Given the description of an element on the screen output the (x, y) to click on. 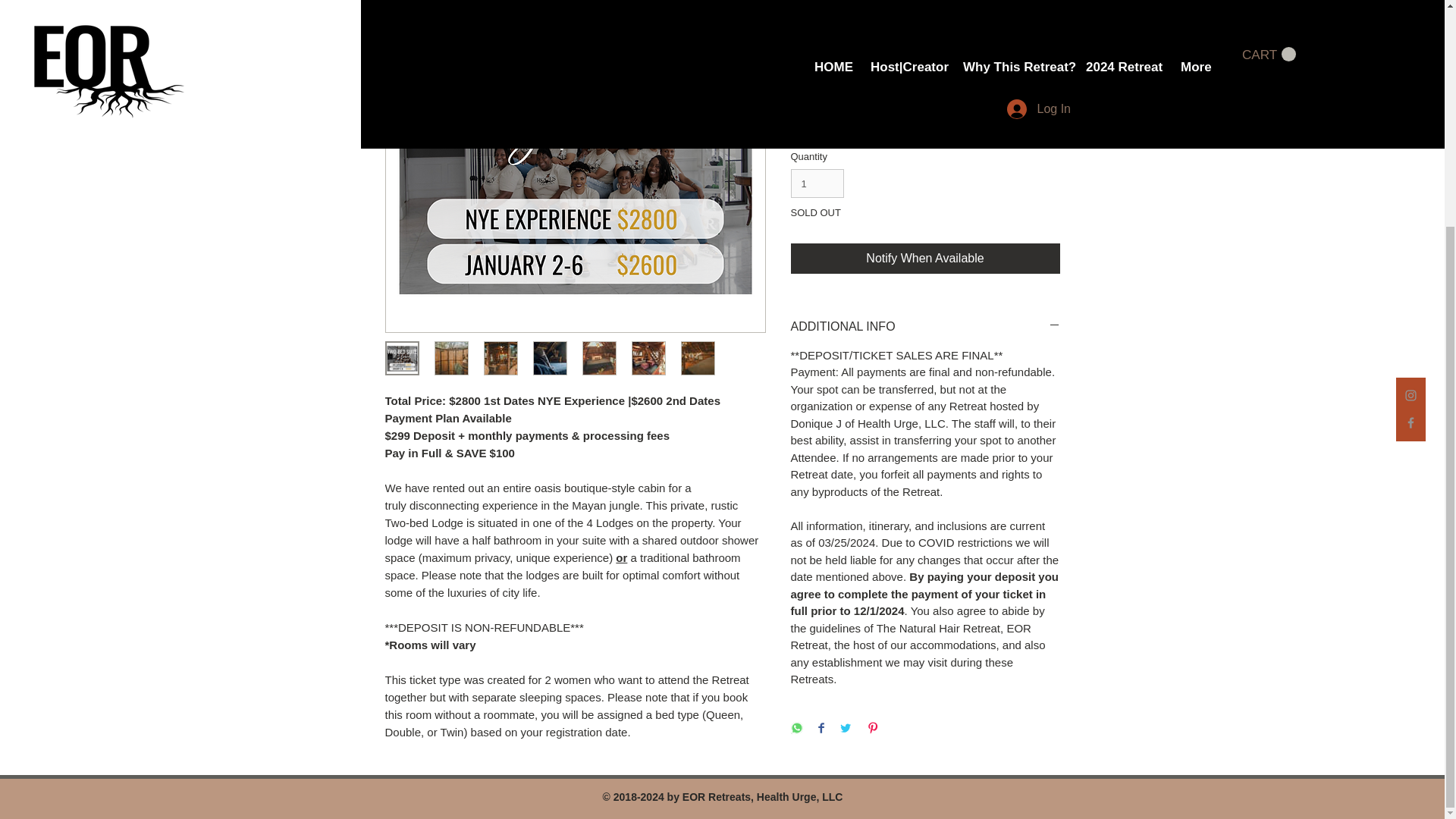
1 (817, 183)
ADDITIONAL INFO (924, 326)
Select (924, 56)
Notify When Available (924, 258)
Select (924, 120)
